Given the description of an element on the screen output the (x, y) to click on. 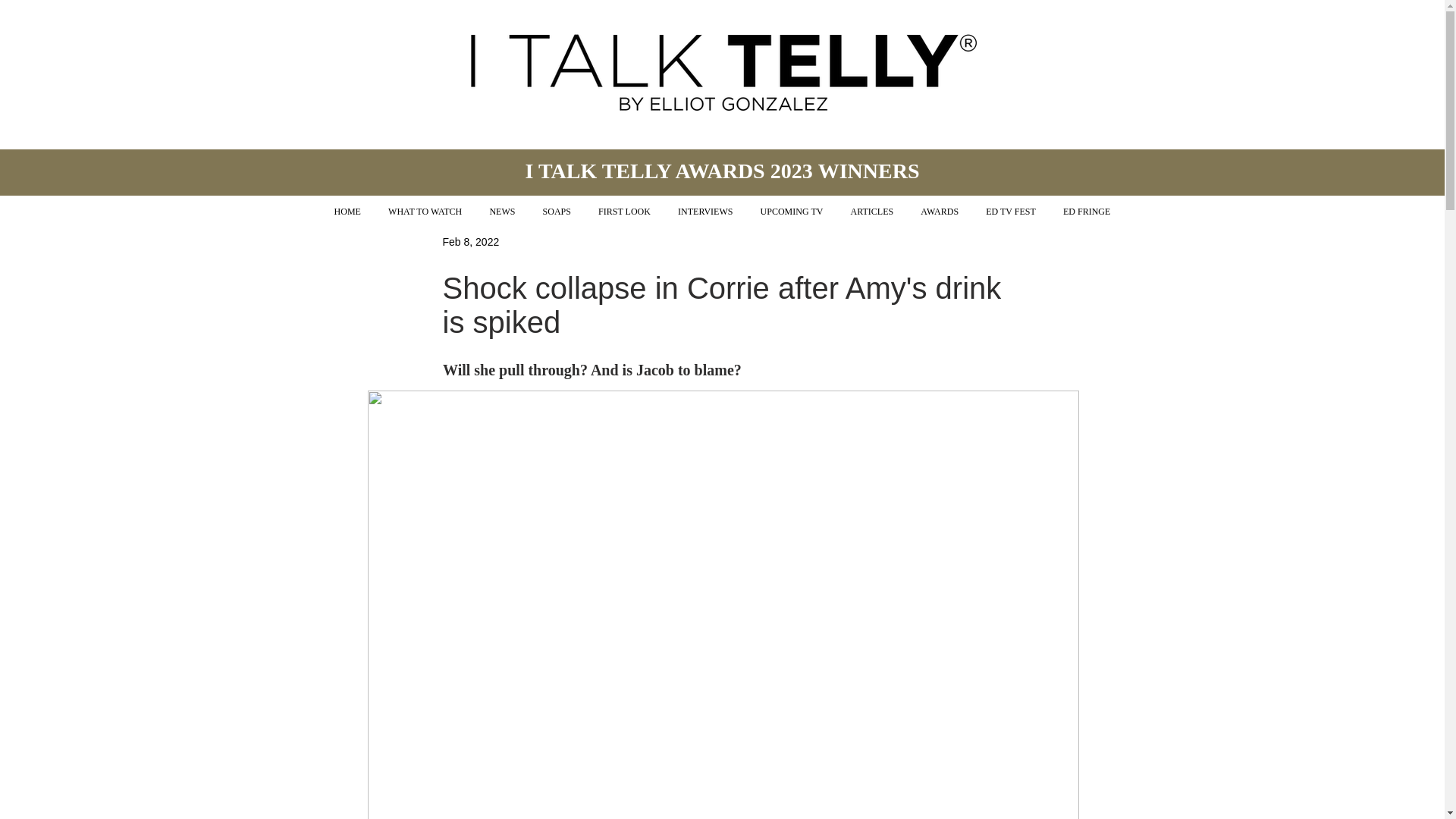
ED FRINGE (1086, 212)
HOME (347, 212)
ARTICLES (872, 212)
Feb 8, 2022 (470, 241)
AWARDS (939, 212)
FIRST LOOK (624, 212)
WHAT TO WATCH (424, 212)
UPCOMING TV (791, 212)
SOAPS (555, 212)
INTERVIEWS (705, 212)
